Given the description of an element on the screen output the (x, y) to click on. 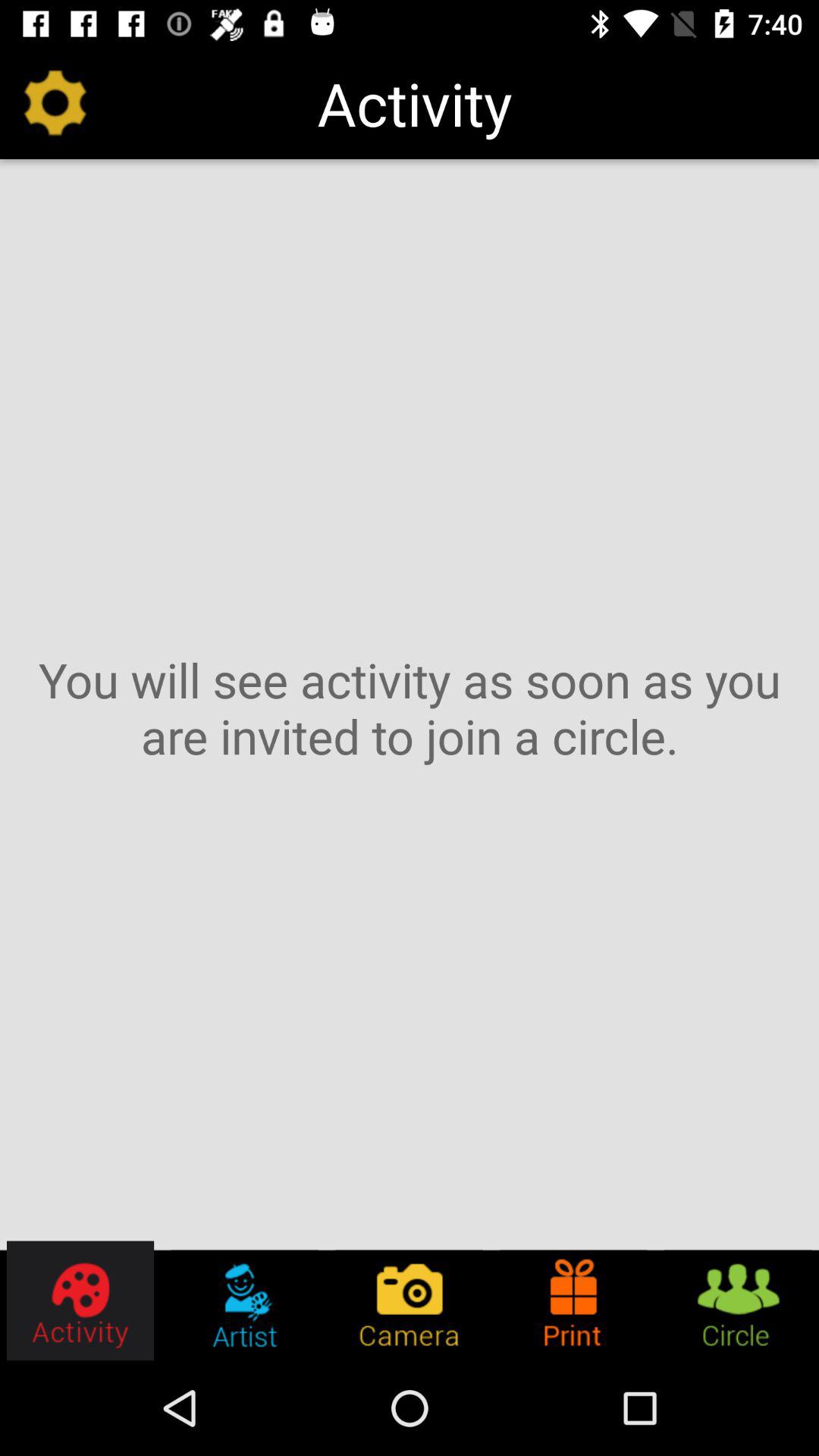
launch the icon below you will see item (409, 1300)
